Given the description of an element on the screen output the (x, y) to click on. 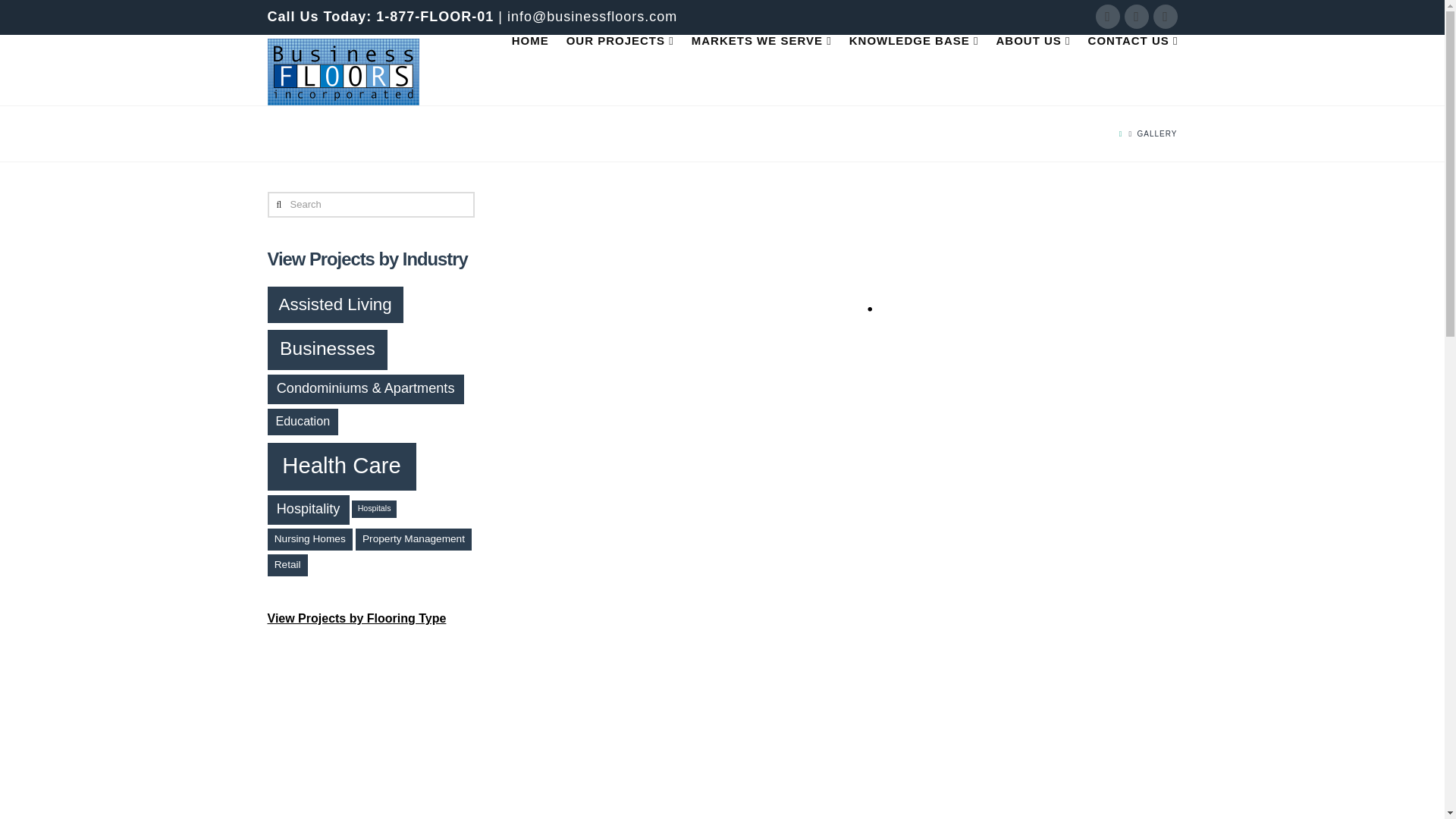
MARKETS WE SERVE (761, 69)
Commerical Business Flooring (342, 71)
Pinterest (1164, 16)
Facebook (1106, 16)
KNOWLEDGE BASE (913, 69)
ABOUT US (1032, 69)
Instagram (1136, 16)
OUR PROJECTS (619, 69)
CONTACT US (1127, 69)
